Given the description of an element on the screen output the (x, y) to click on. 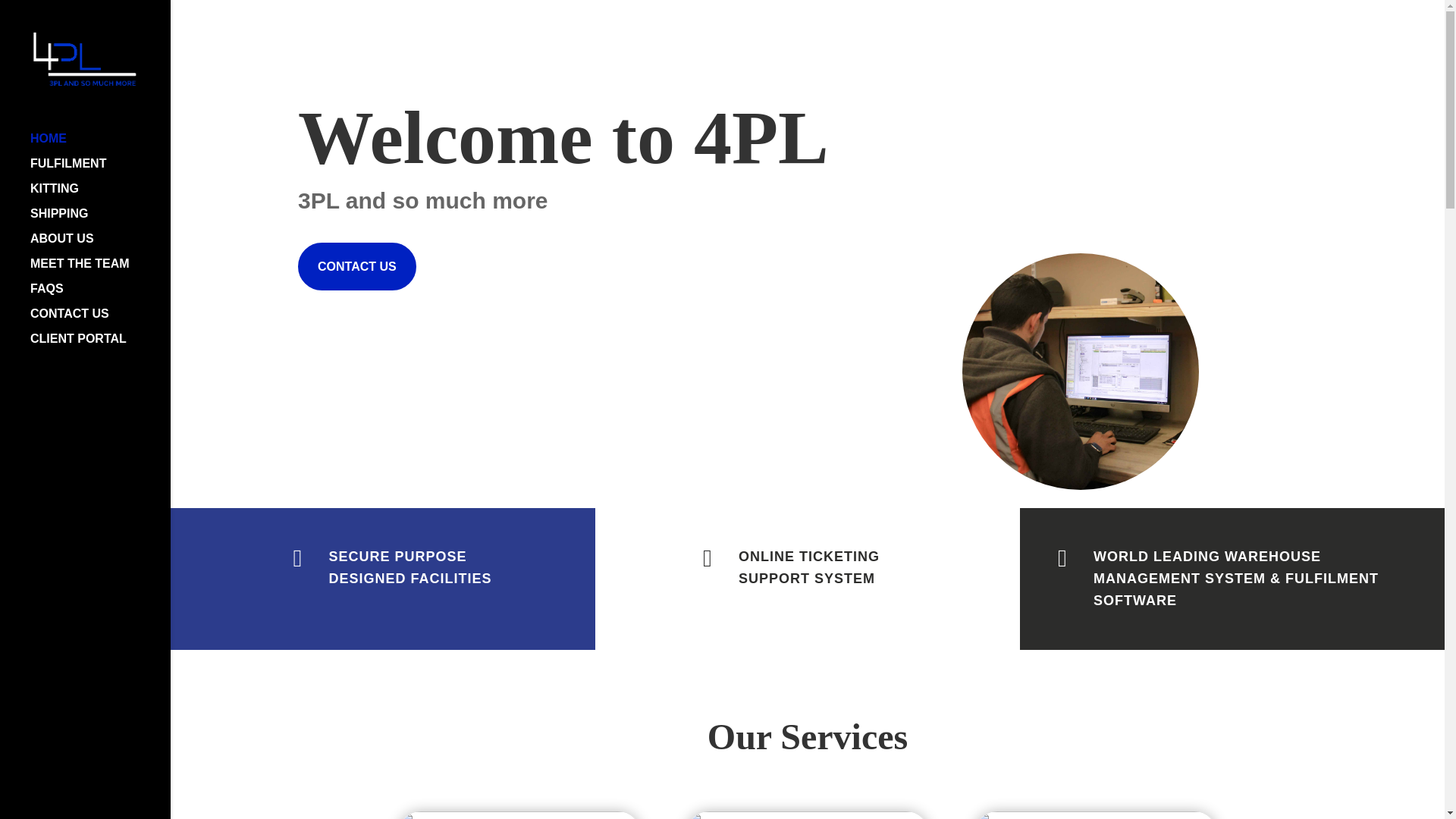
CONTACT US (100, 320)
CONTACT US (357, 266)
Fulfilment-Services (519, 815)
CLIENT PORTAL (100, 345)
Shipping-Services (807, 815)
HOME (100, 145)
ABOUT US (100, 245)
4PL-Warehouse-Management (1080, 371)
SHIPPING (100, 220)
Kitting-Services (1095, 815)
